Given the description of an element on the screen output the (x, y) to click on. 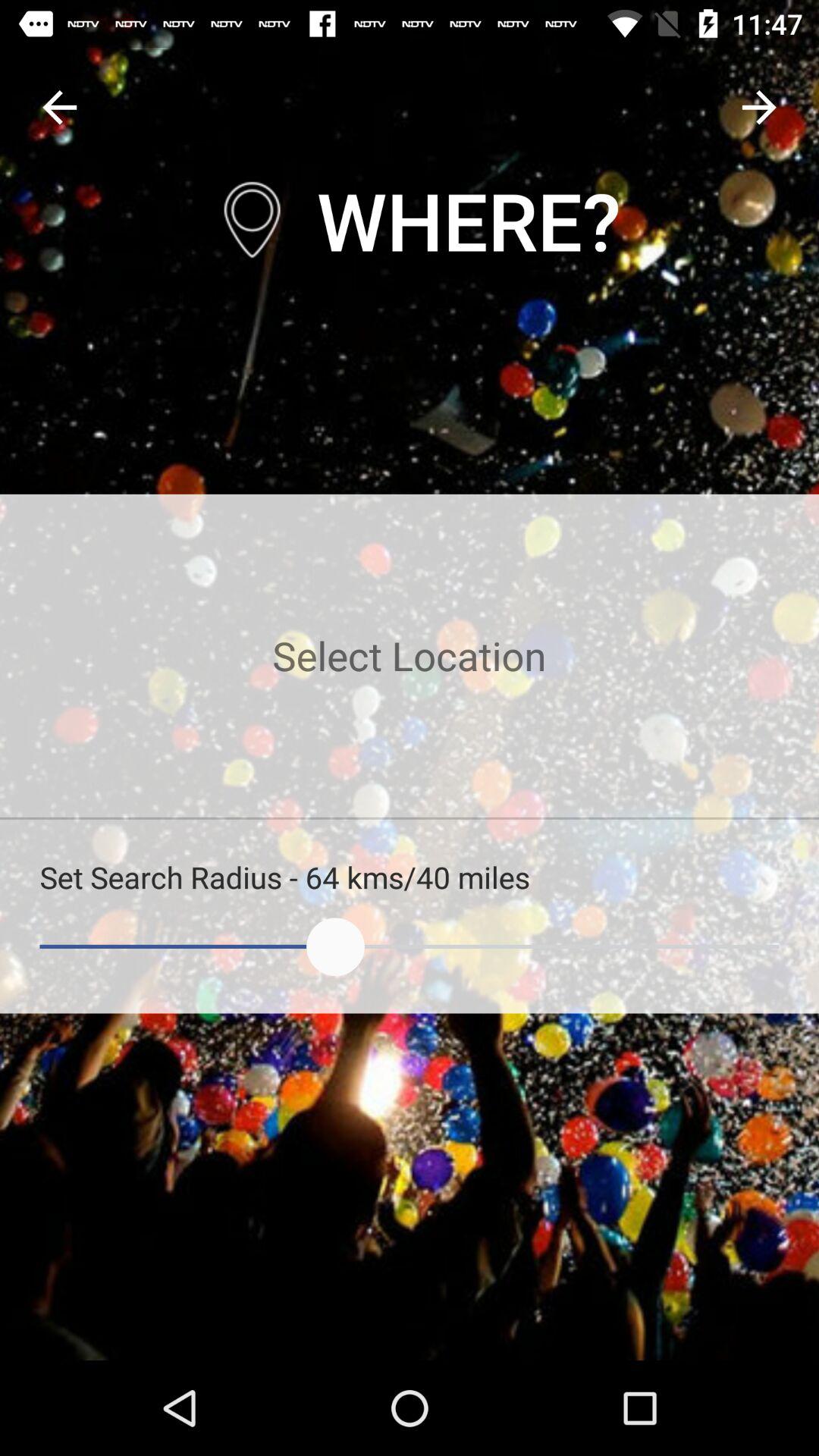
go forward (759, 107)
